Given the description of an element on the screen output the (x, y) to click on. 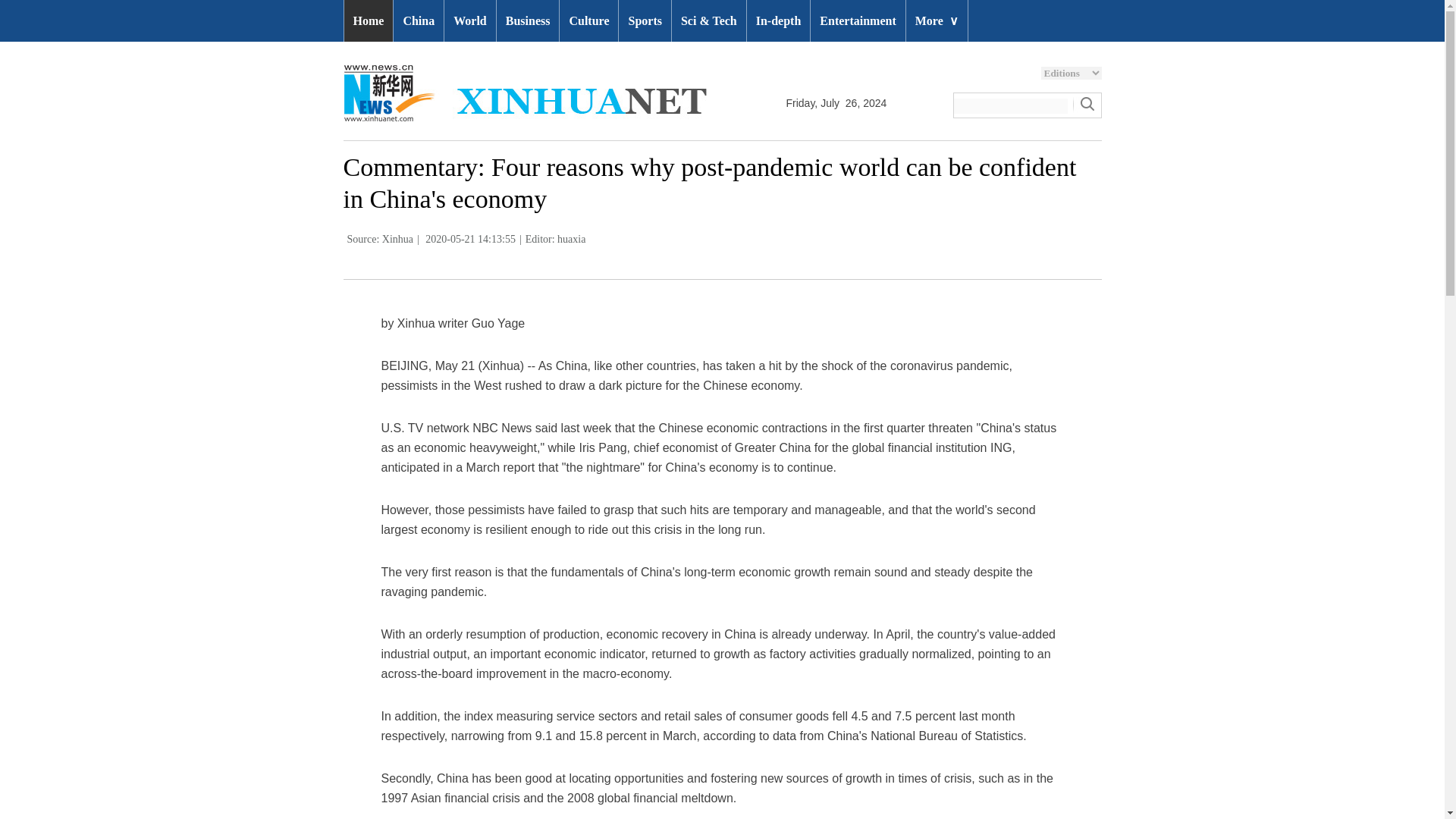
Sports (643, 20)
In-depth (778, 20)
Entertainment (857, 20)
Culture (588, 20)
World (470, 20)
Business (527, 20)
China (418, 20)
Home (368, 20)
